Given the description of an element on the screen output the (x, y) to click on. 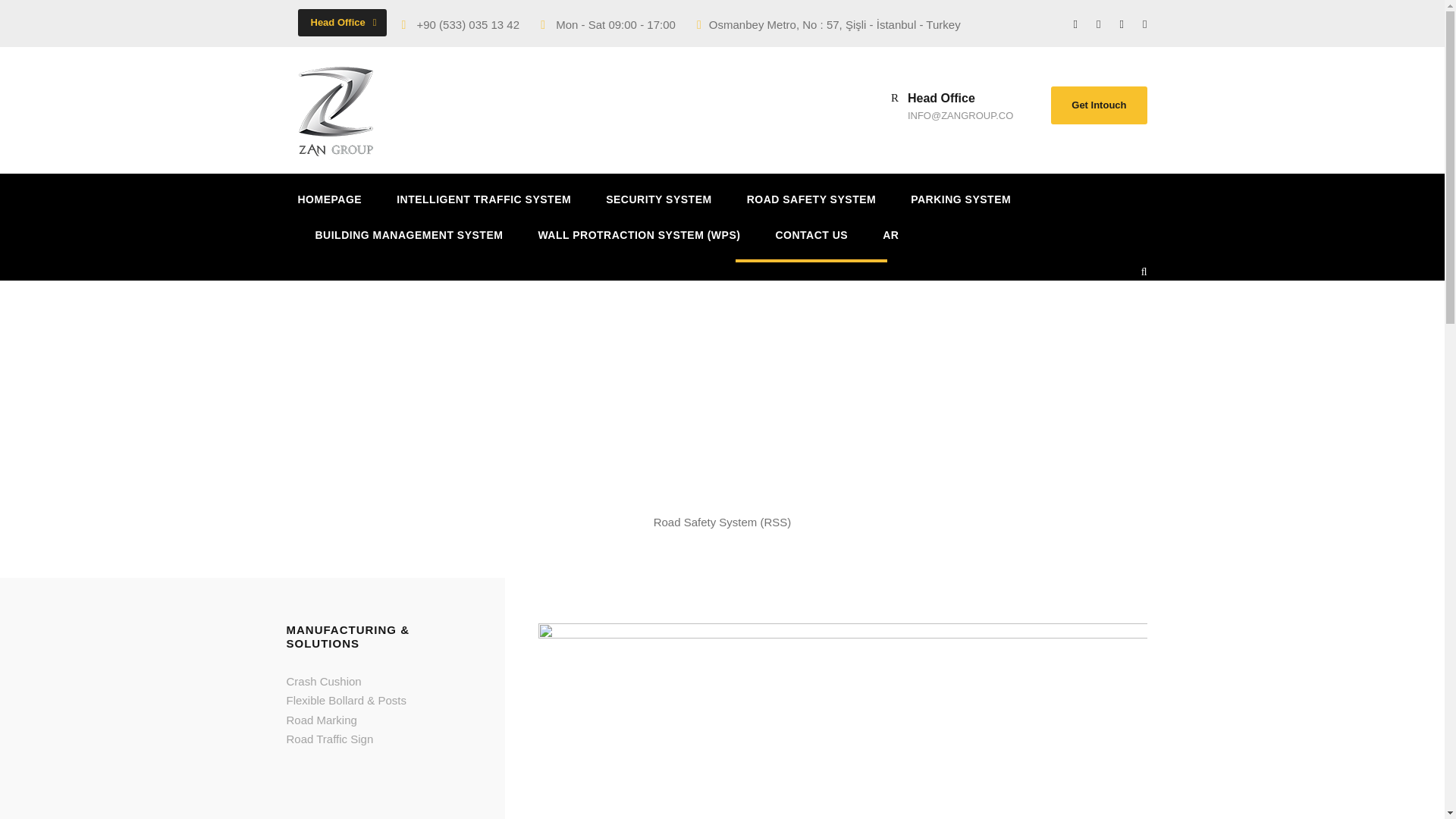
SECURITY SYSTEM (658, 208)
Road Marking (321, 719)
Crash Cushion (323, 680)
Road Traffic Sign (330, 738)
CONTACT US (810, 244)
Get Intouch (1099, 105)
ROAD SAFETY SYSTEM (811, 208)
INTELLIGENT TRAFFIC SYSTEM (483, 208)
PARKING SYSTEM (960, 208)
BUILDING MANAGEMENT SYSTEM (409, 244)
